Given the description of an element on the screen output the (x, y) to click on. 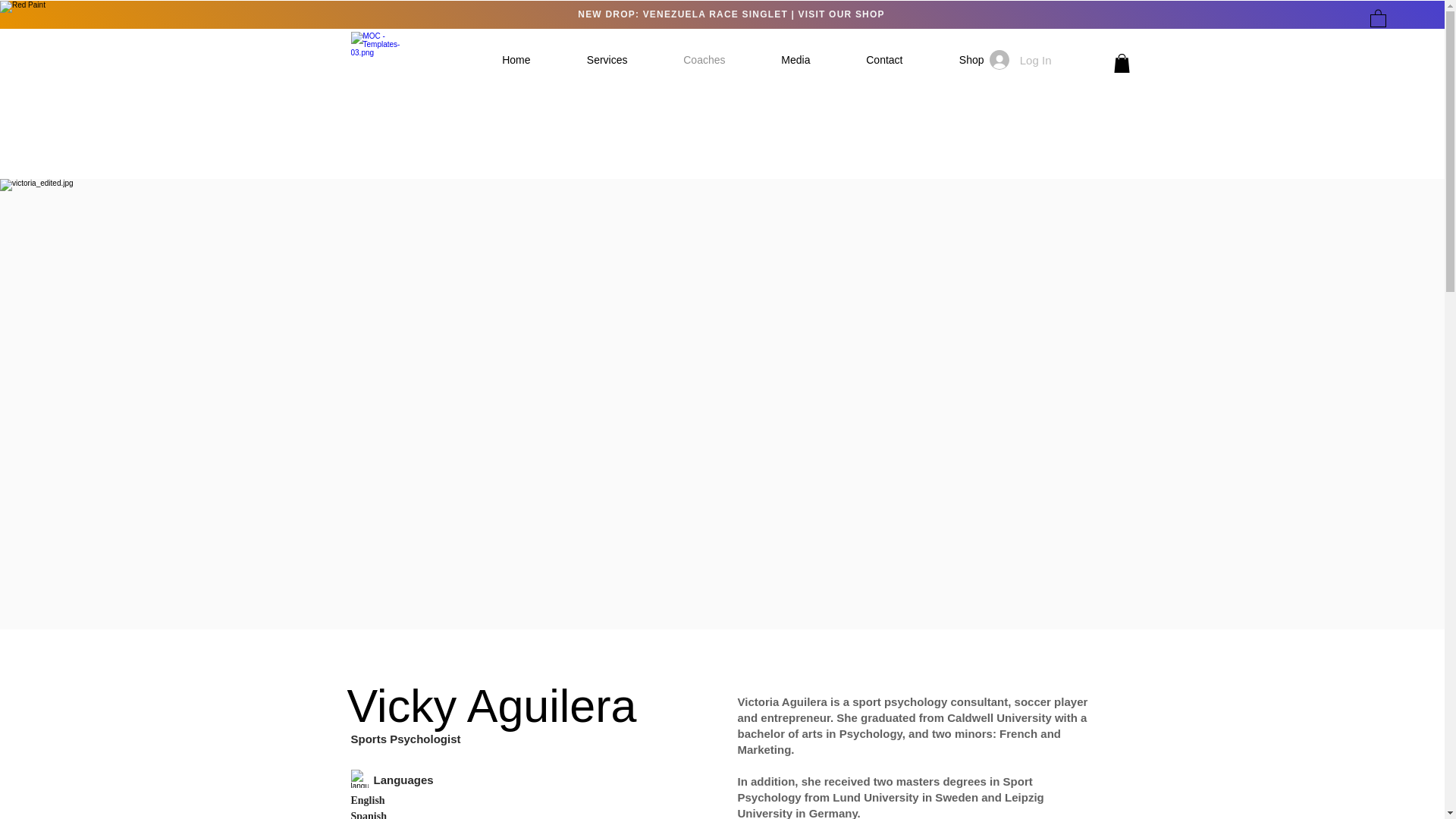
Coaches (687, 59)
Media (779, 59)
Contact (868, 59)
Shop (954, 59)
Services (590, 59)
Log In (1020, 59)
Home (499, 59)
